Given the description of an element on the screen output the (x, y) to click on. 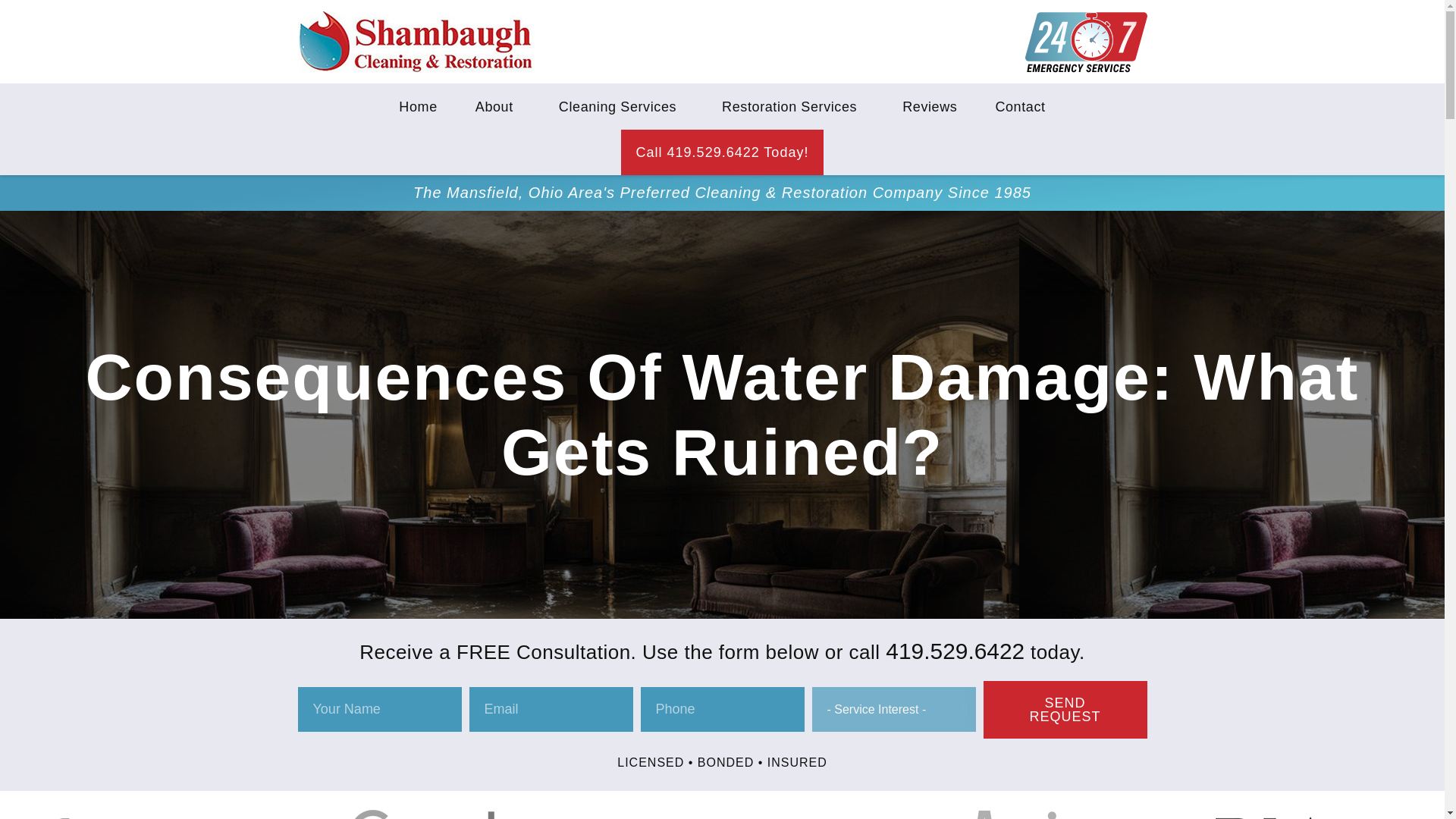
About (498, 106)
Call 419.529.6422 Today! (722, 152)
Home (417, 106)
Reviews (929, 106)
Contact (1019, 106)
Restoration Services (793, 106)
Cleaning Services (621, 106)
